Given the description of an element on the screen output the (x, y) to click on. 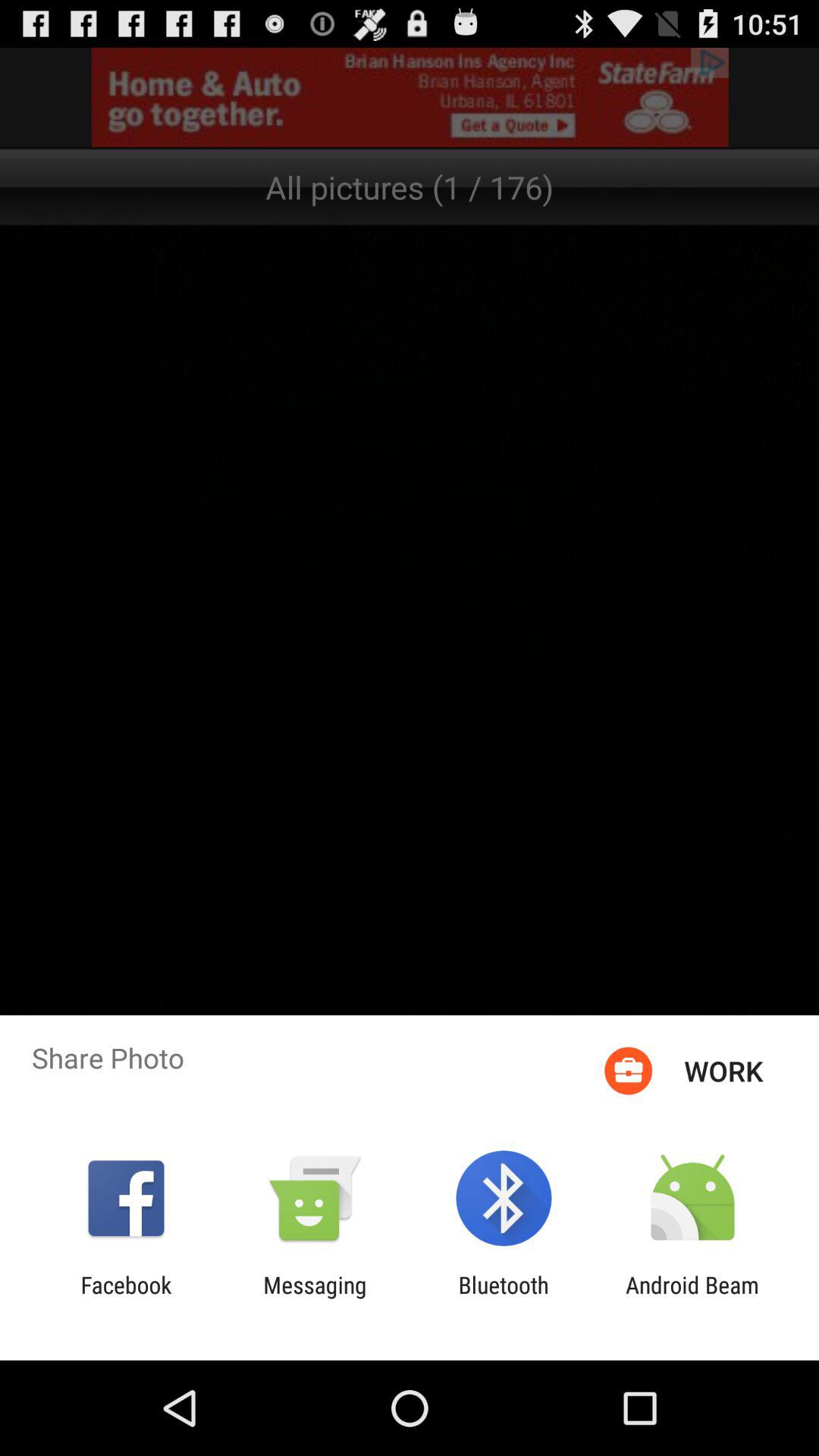
turn off the app next to bluetooth app (692, 1298)
